Given the description of an element on the screen output the (x, y) to click on. 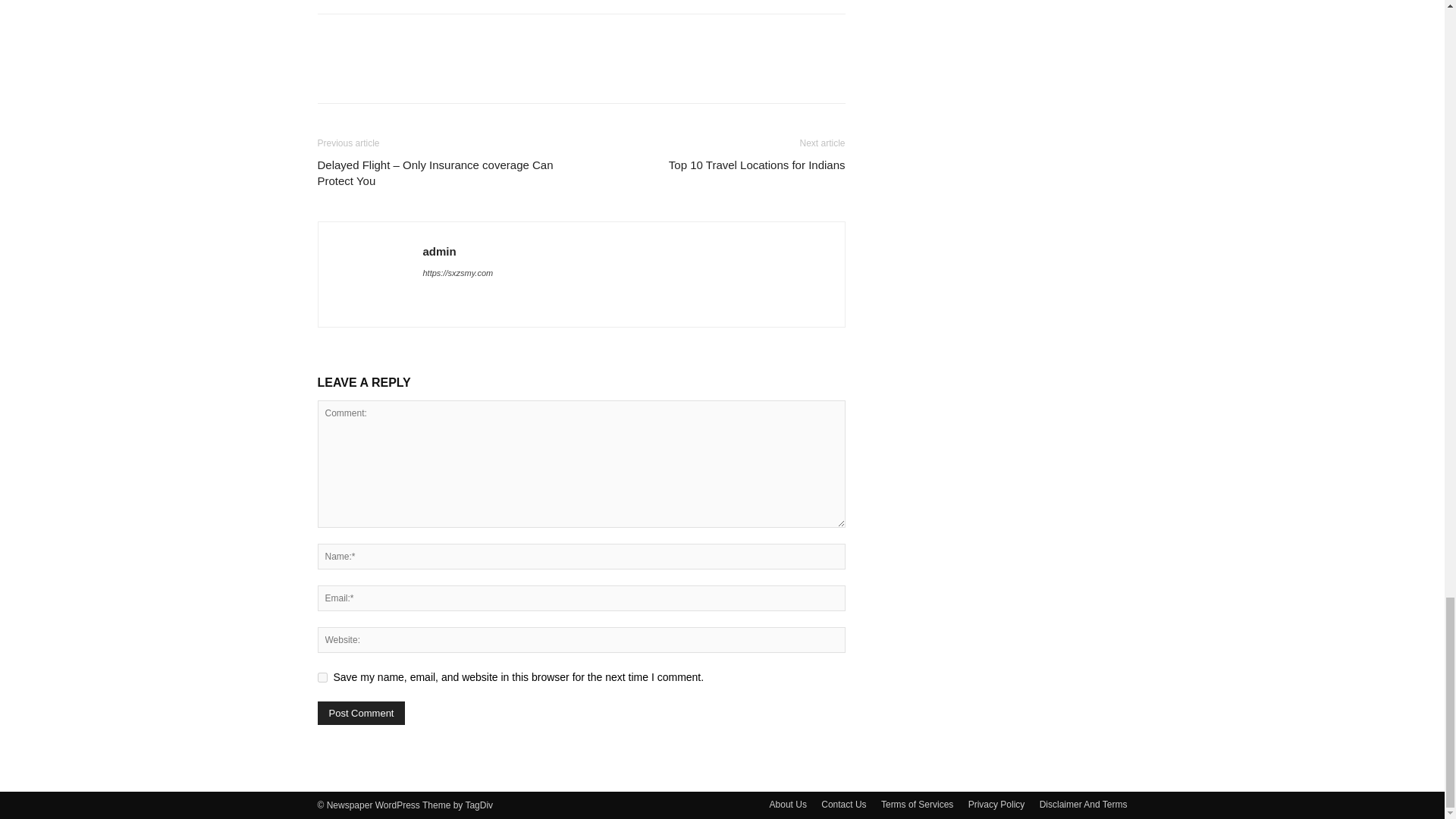
bottomFacebookLike (430, 37)
yes (321, 677)
Post Comment (360, 712)
